Given the description of an element on the screen output the (x, y) to click on. 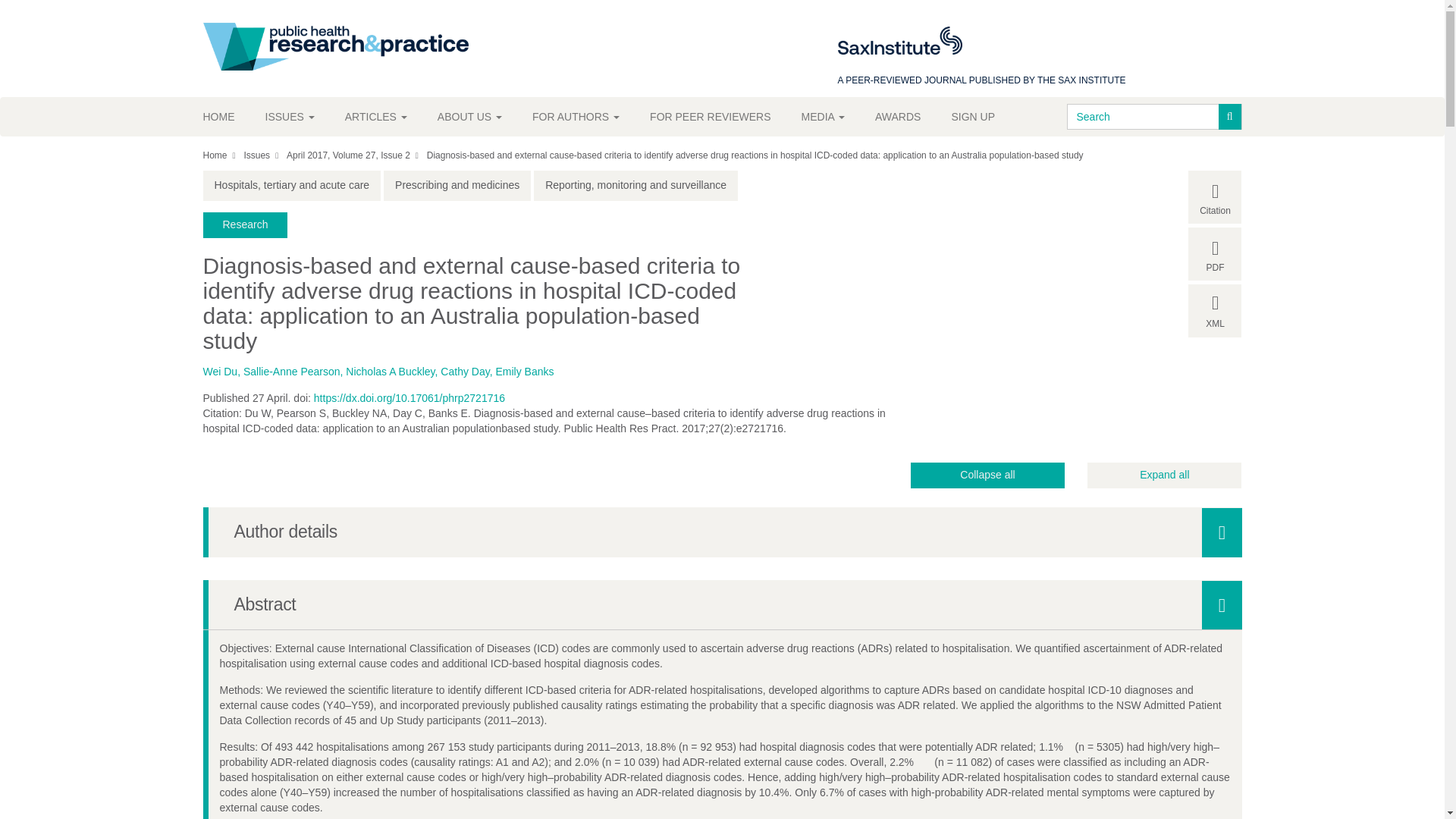
Visit Sax Institute (898, 40)
Issues (290, 116)
MEDIA (823, 116)
ARTICLES (376, 116)
Articles (376, 116)
AWARDS (898, 116)
Home (226, 116)
ABOUT US (469, 116)
FOR PEER REVIEWERS (710, 116)
HOME (226, 116)
